Given the description of an element on the screen output the (x, y) to click on. 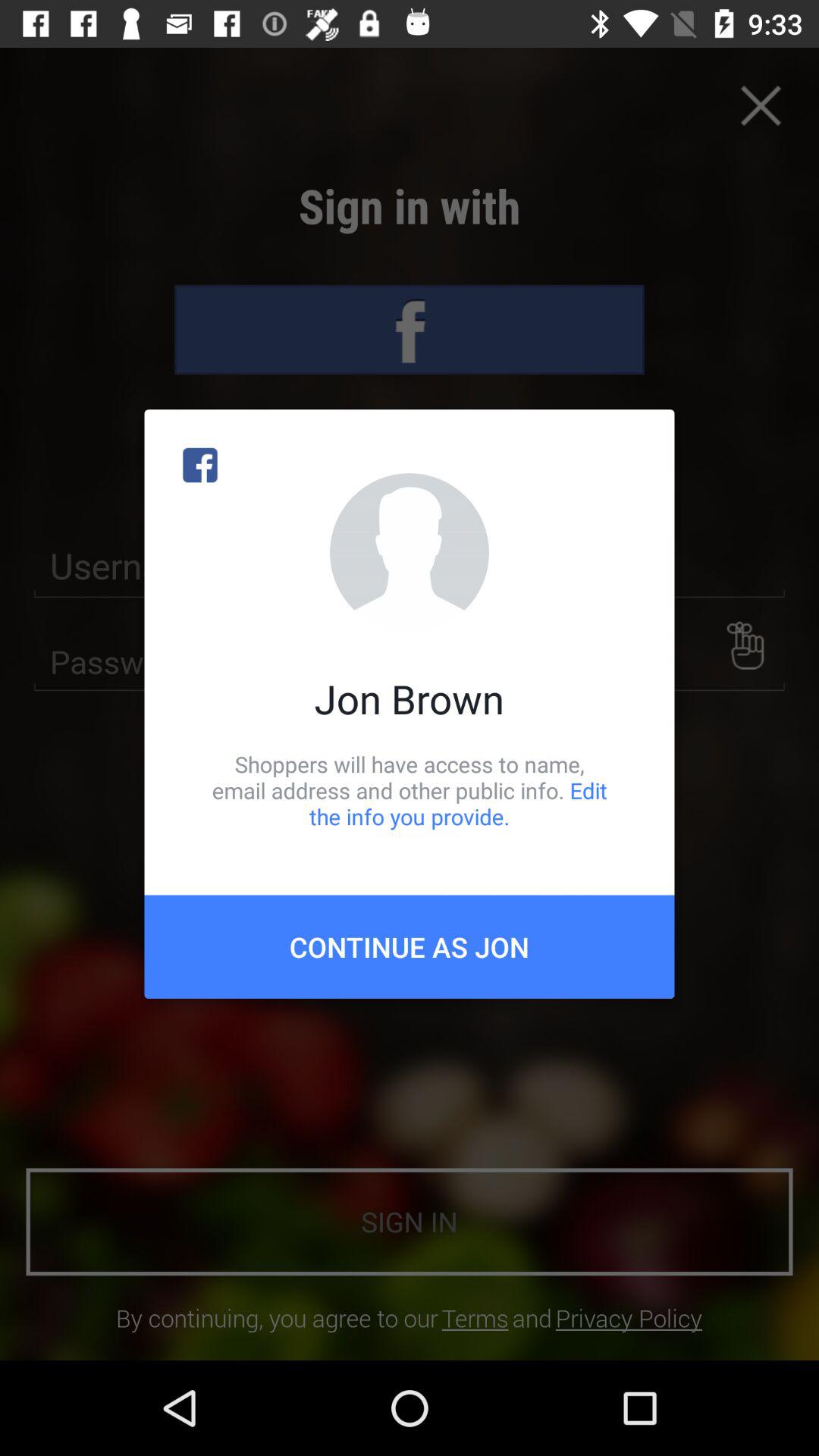
press the item above continue as jon icon (409, 790)
